Given the description of an element on the screen output the (x, y) to click on. 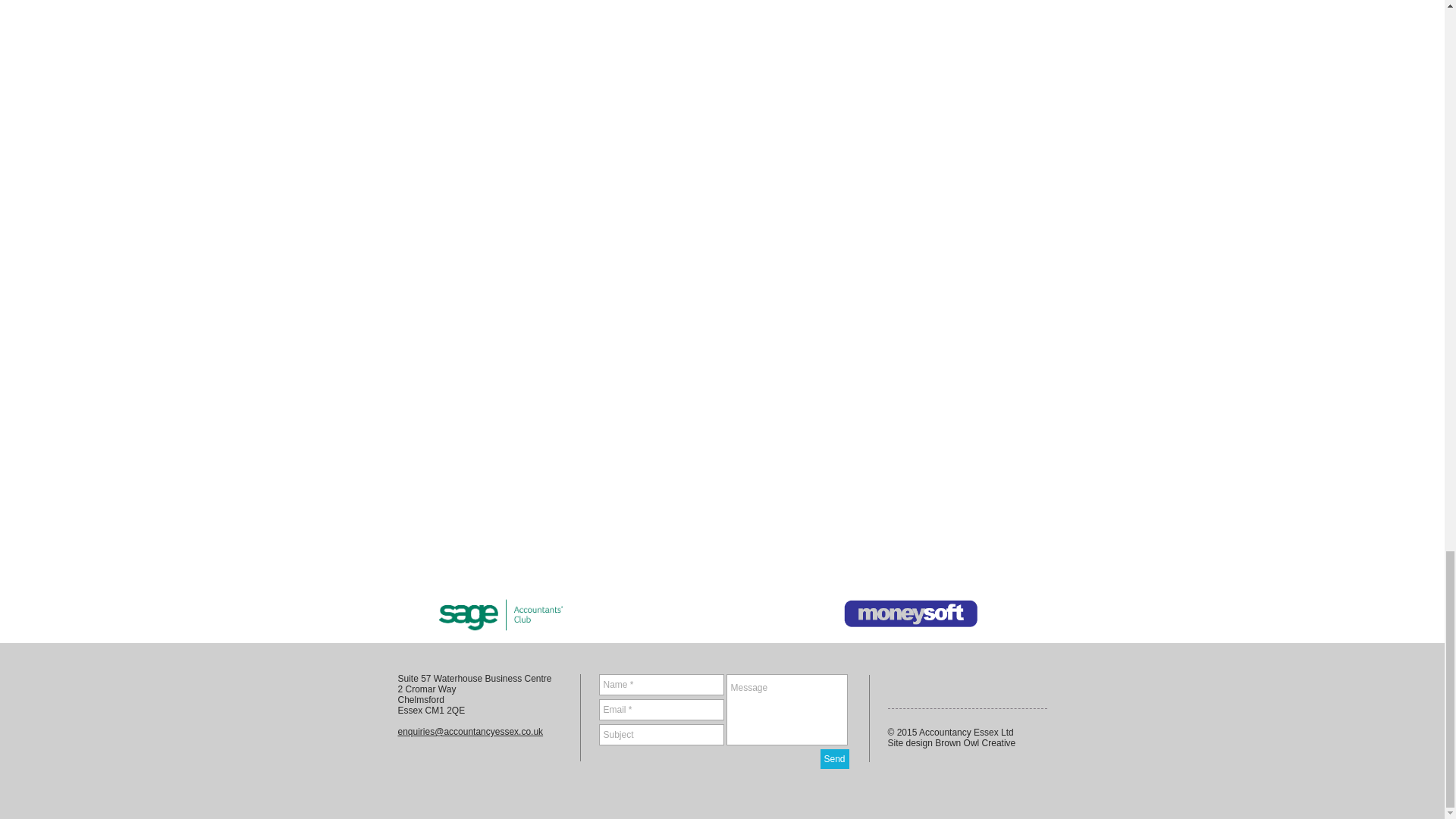
Accountant Essex (501, 613)
Accountant Essex (910, 613)
Brown Owl Creative (974, 742)
Send (834, 759)
